Given the description of an element on the screen output the (x, y) to click on. 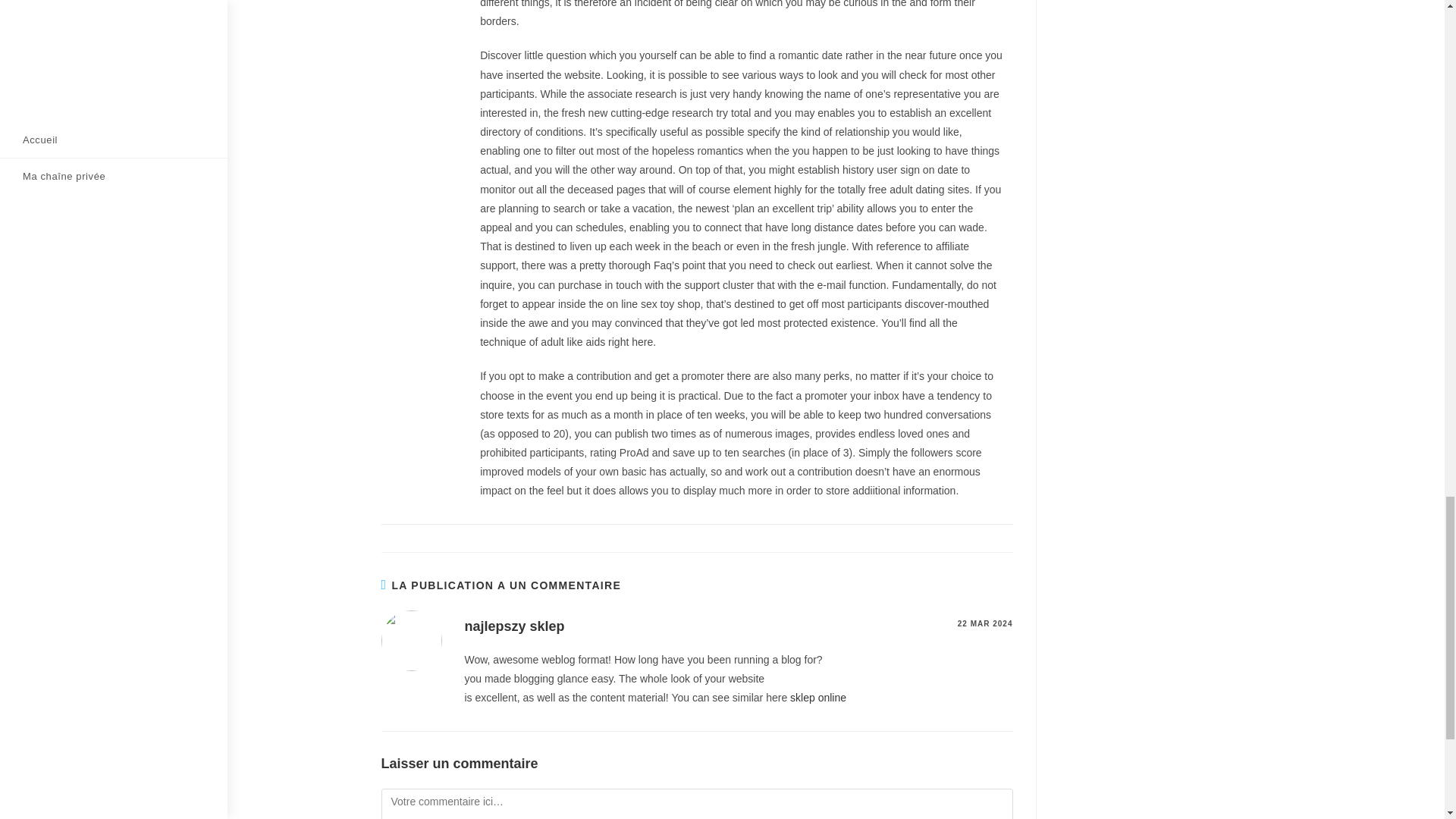
najlepszy sklep (514, 626)
sklep online (817, 697)
